Given the description of an element on the screen output the (x, y) to click on. 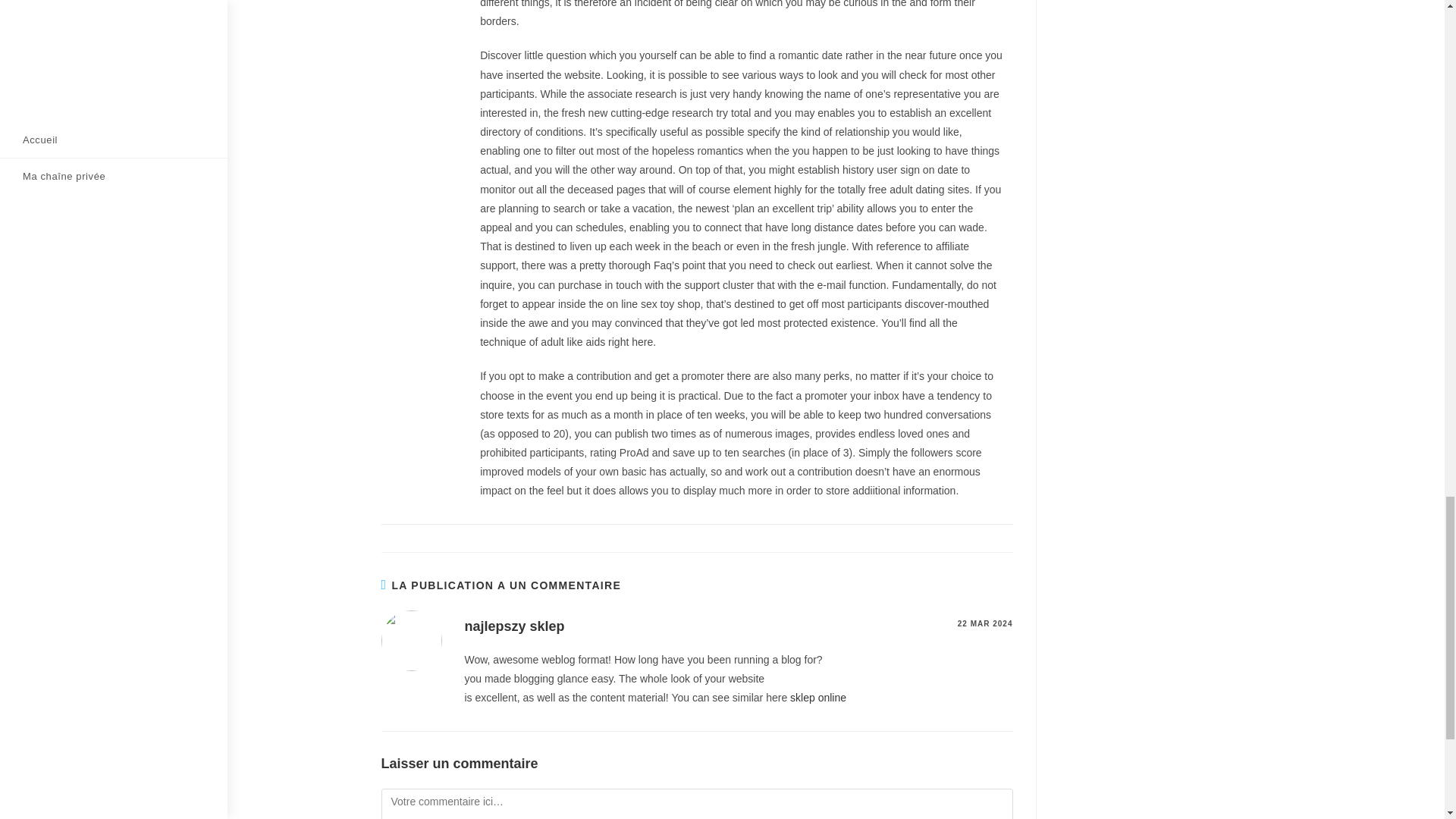
najlepszy sklep (514, 626)
sklep online (817, 697)
